Given the description of an element on the screen output the (x, y) to click on. 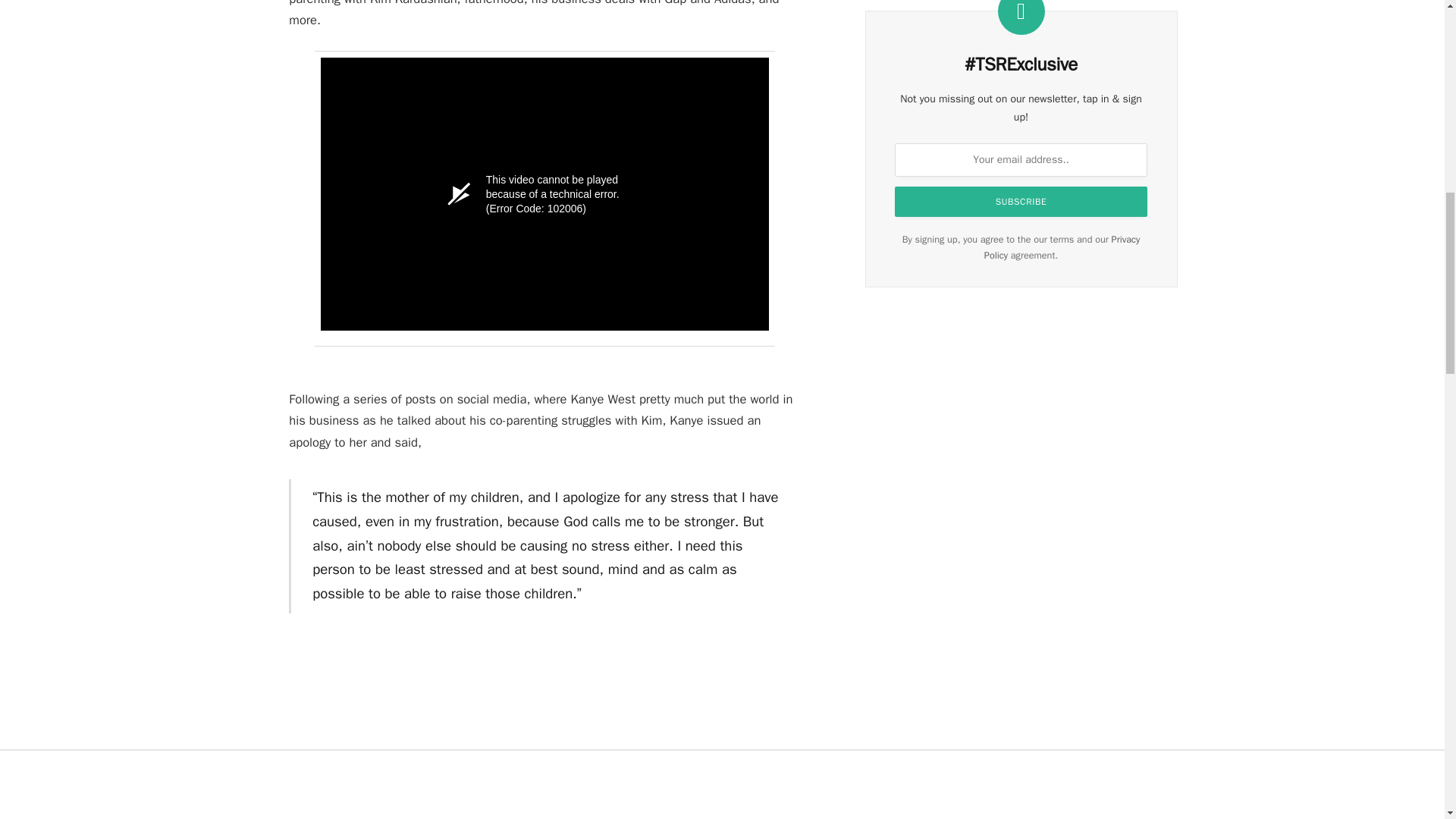
Subscribe (1021, 201)
